Given the description of an element on the screen output the (x, y) to click on. 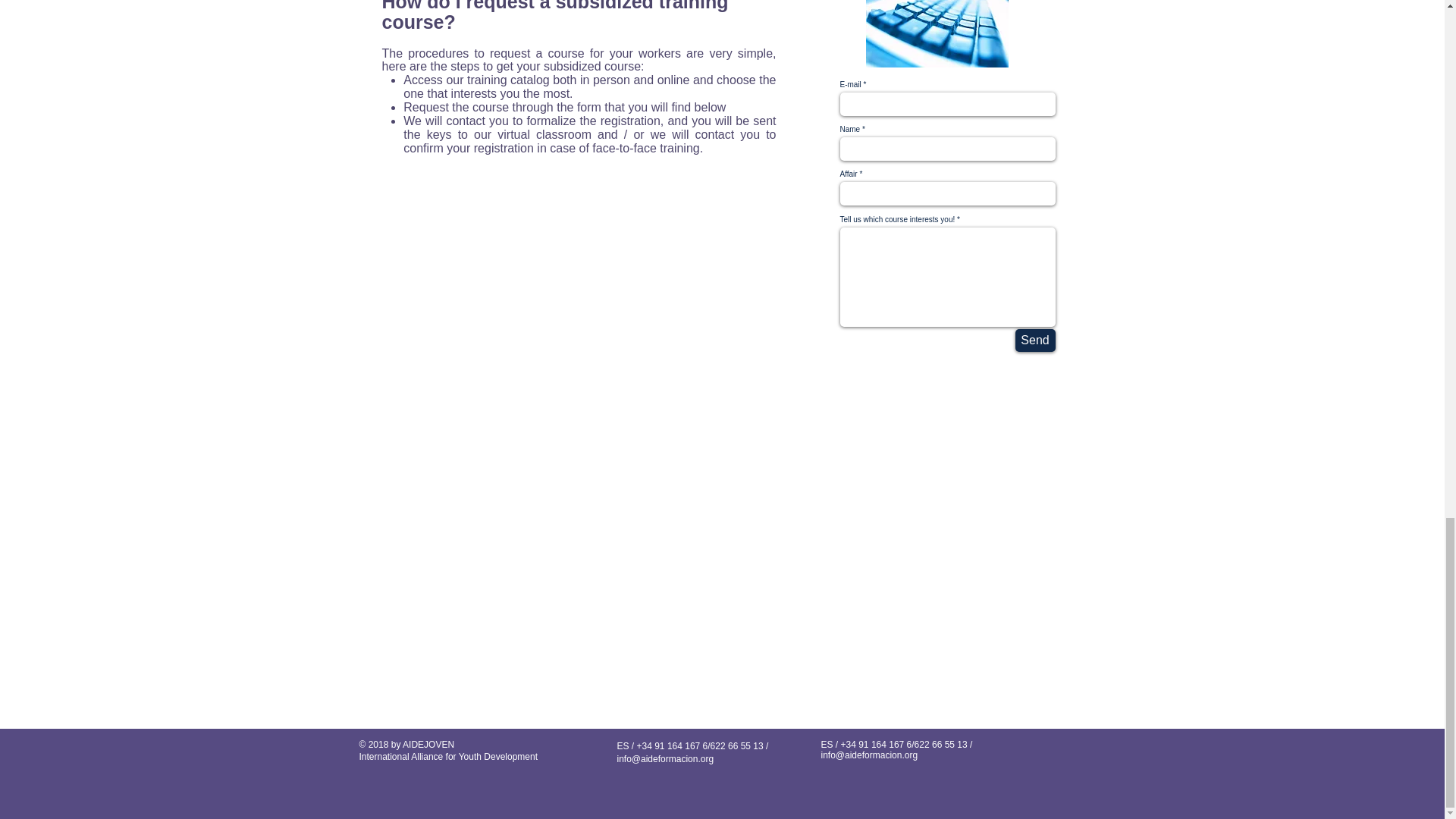
Send (1034, 340)
